Given the description of an element on the screen output the (x, y) to click on. 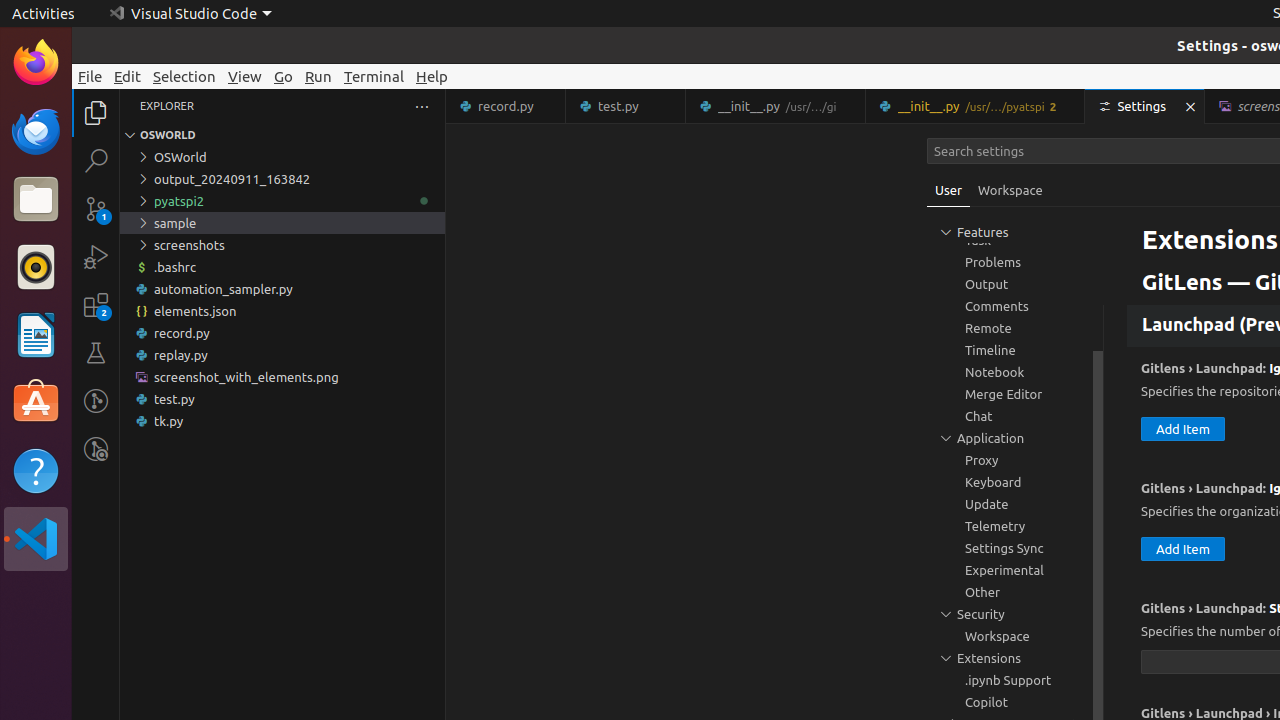
Run and Debug (Ctrl+Shift+D) Element type: page-tab (96, 257)
Settings Sync, group Element type: tree-item (1015, 548)
Telemetry, group Element type: tree-item (1015, 526)
Run Element type: push-button (318, 76)
